Given the description of an element on the screen output the (x, y) to click on. 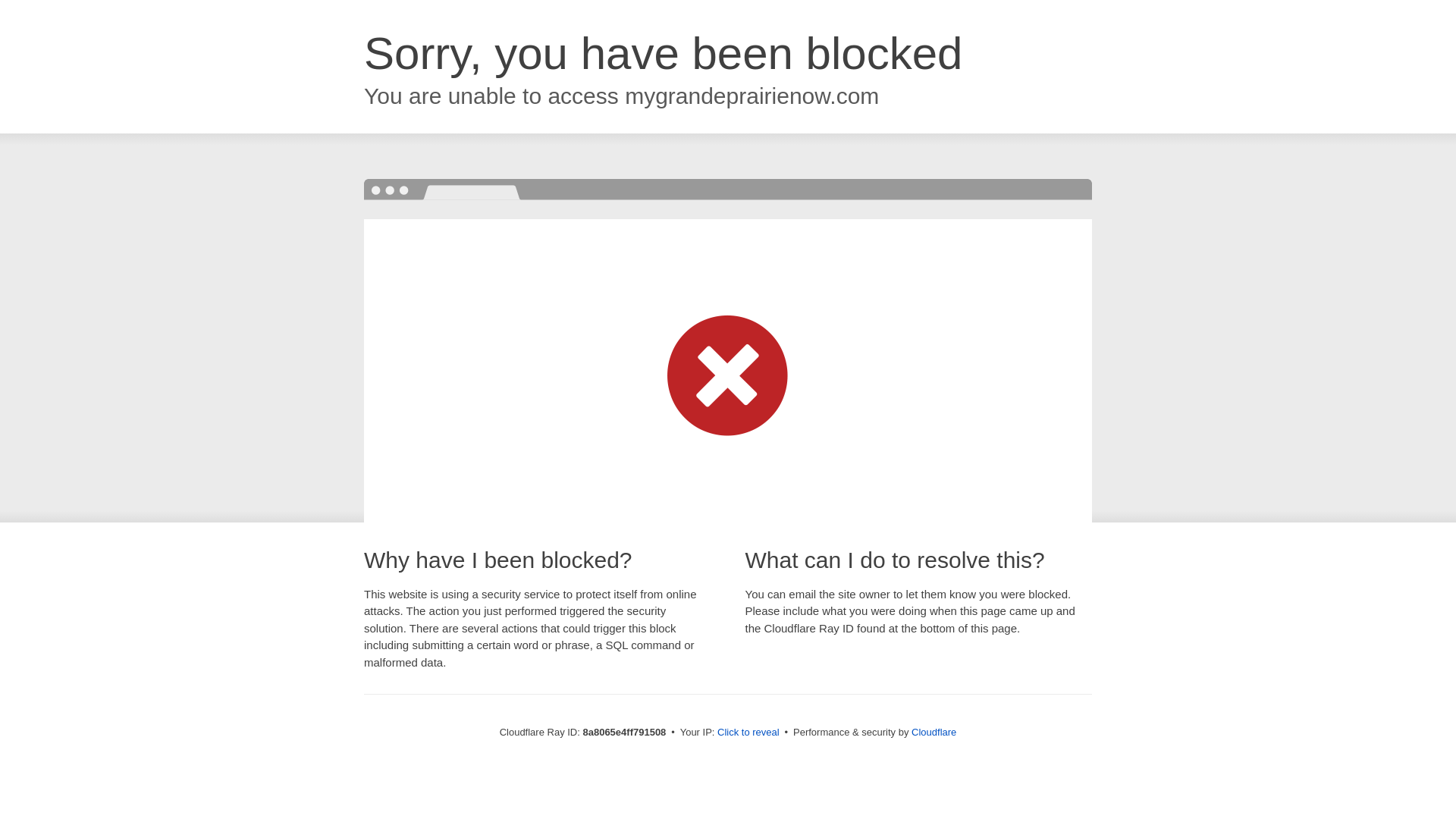
Click to reveal (747, 732)
Cloudflare (933, 731)
